Given the description of an element on the screen output the (x, y) to click on. 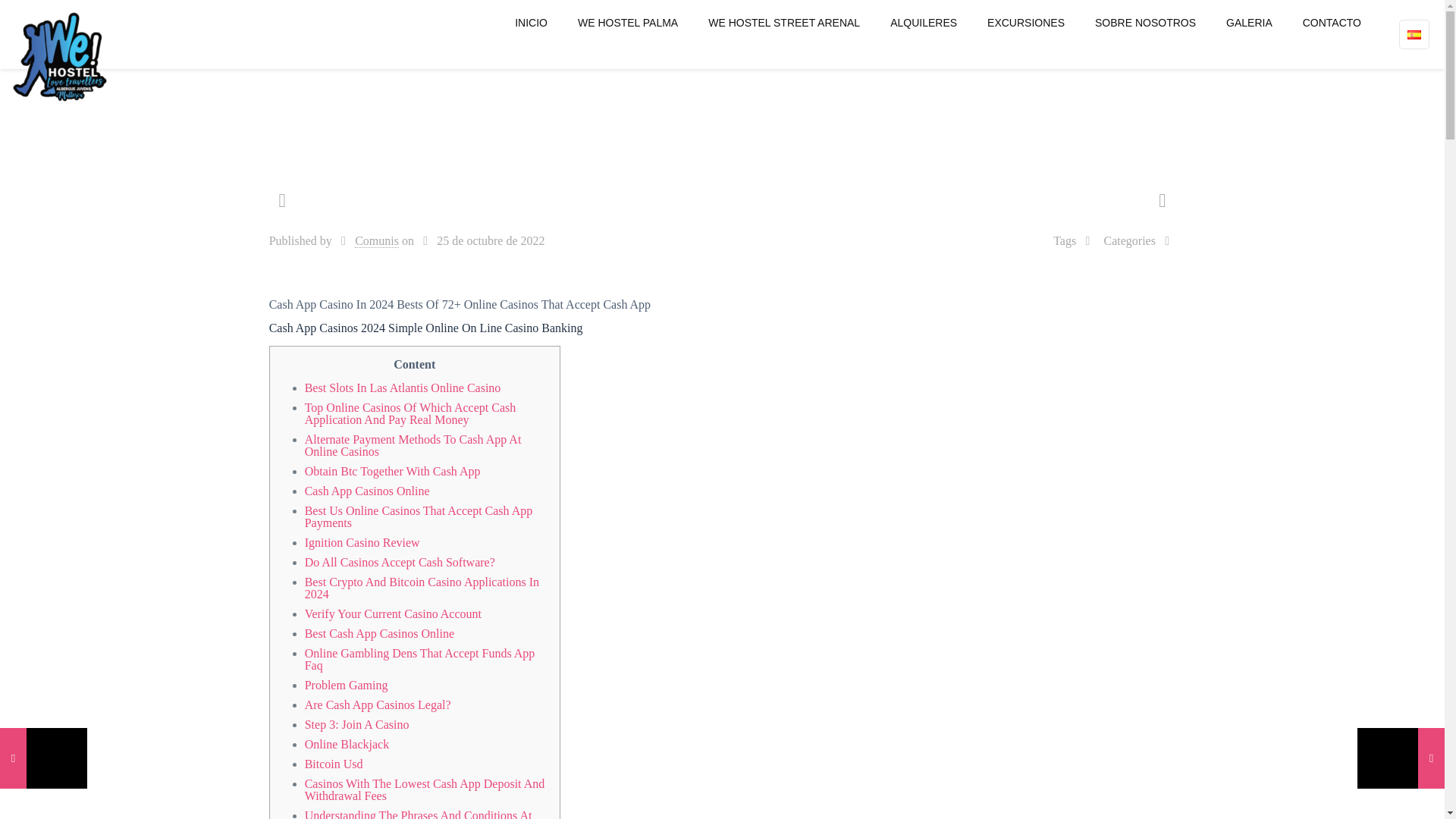
We Hostel (58, 57)
WE HOSTEL STREET ARENAL (784, 22)
WE HOSTEL PALMA (627, 22)
INICIO (530, 22)
